Given the description of an element on the screen output the (x, y) to click on. 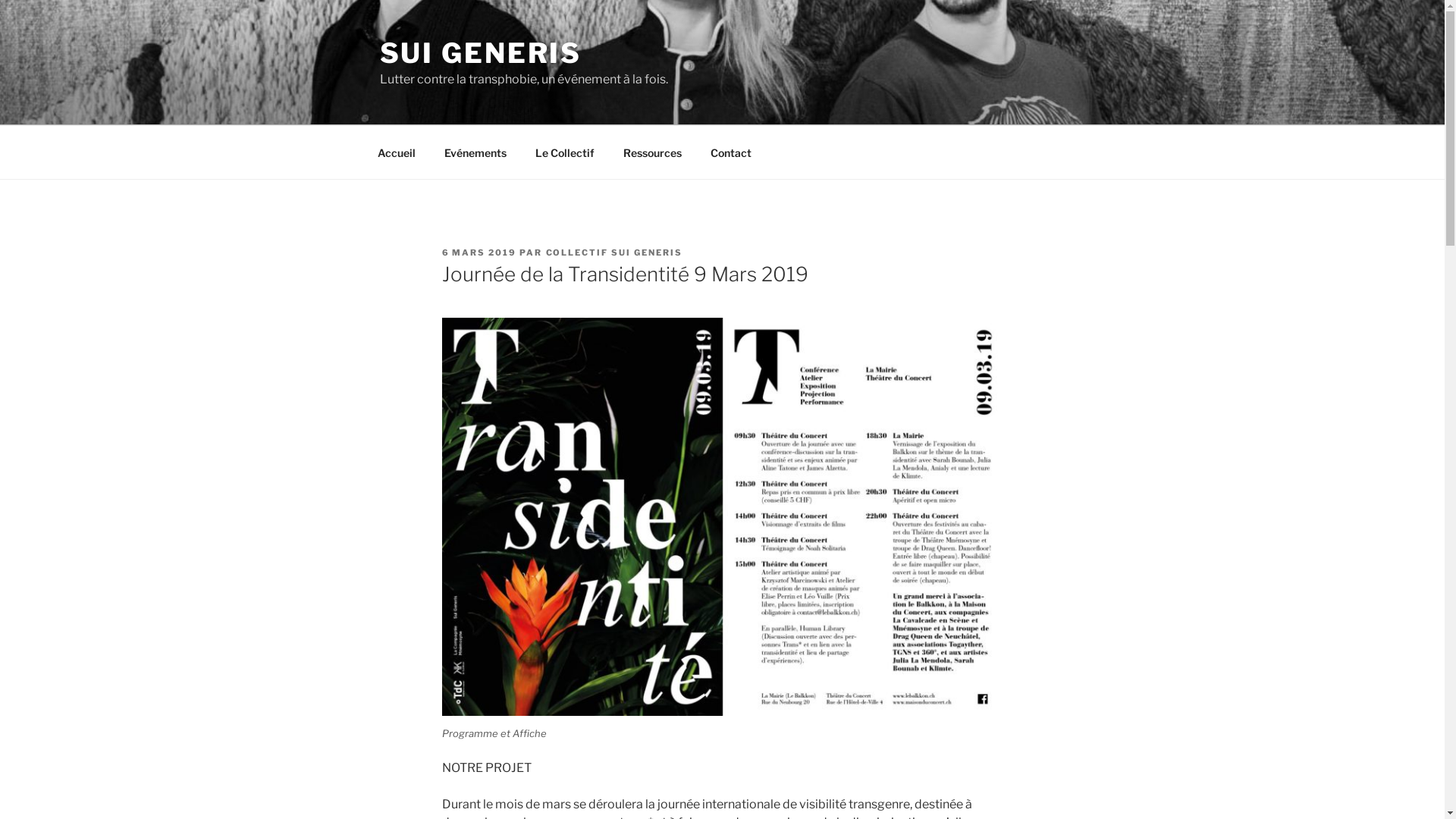
SUI GENERIS Element type: text (480, 52)
6 MARS 2019 Element type: text (478, 252)
Aller au contenu principal Element type: text (0, 0)
Ressources Element type: text (651, 151)
Le Collectif Element type: text (564, 151)
Contact Element type: text (731, 151)
Accueil Element type: text (396, 151)
COLLECTIF SUI GENERIS Element type: text (614, 252)
